Given the description of an element on the screen output the (x, y) to click on. 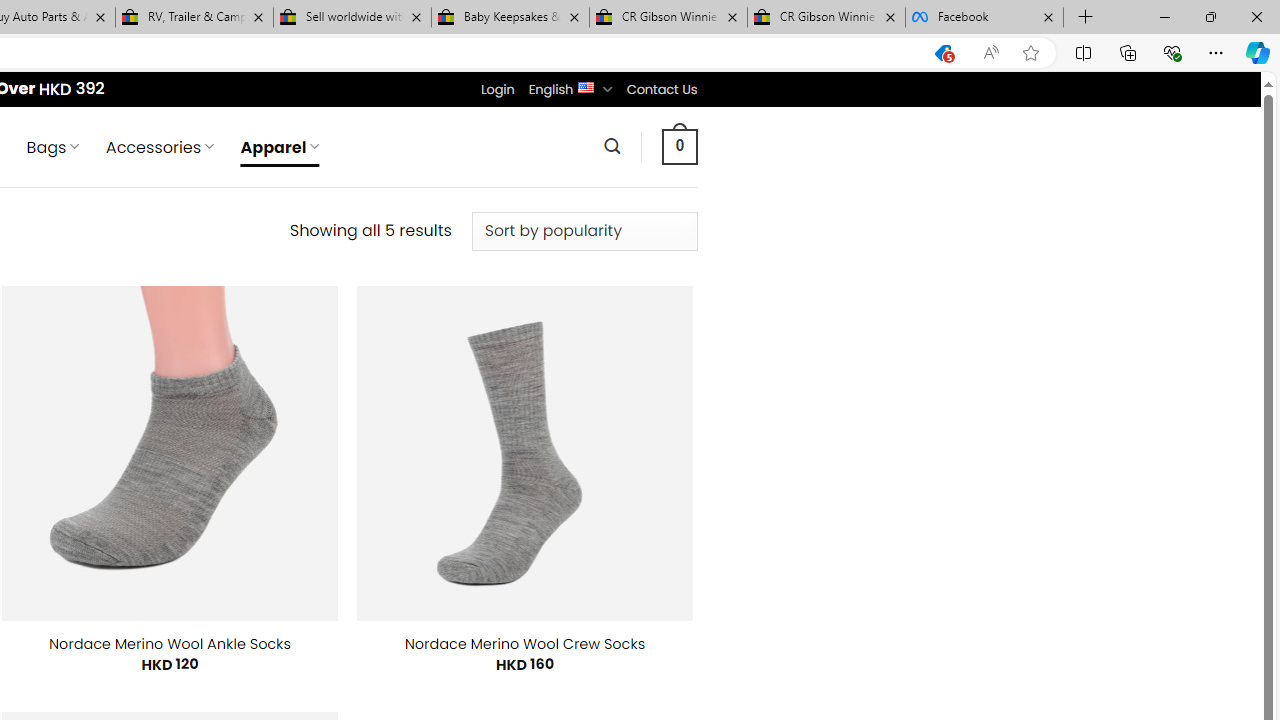
This site has coupons! Shopping in Microsoft Edge, 5 (943, 53)
  0   (679, 146)
Nordace Merino Wool Crew Socks (525, 643)
